Given the description of an element on the screen output the (x, y) to click on. 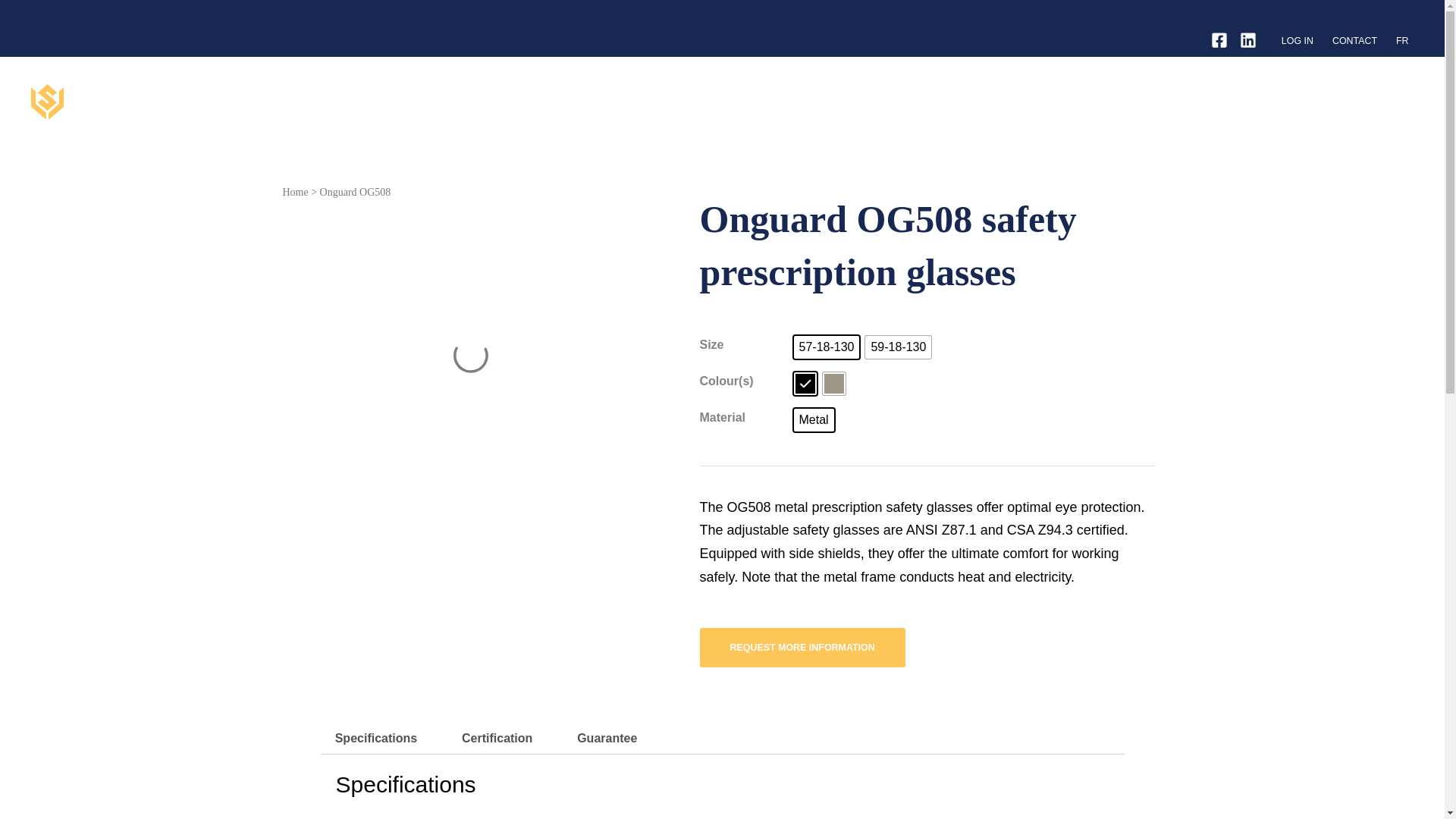
BLOG (1401, 101)
Metal (812, 419)
Tin (833, 383)
FR (1402, 40)
LOG IN (1296, 40)
FRAMES (1060, 101)
Black (804, 383)
INDUSTRY (1124, 101)
FIND A CLINIC (1340, 101)
59-18-130 (897, 346)
LENSES AND TREATMENTS (1231, 101)
57-18-130 (826, 346)
REQUEST MORE INFORMATION (801, 647)
CONTACT (1354, 40)
CORPORATE PROGRAM (970, 101)
